Given the description of an element on the screen output the (x, y) to click on. 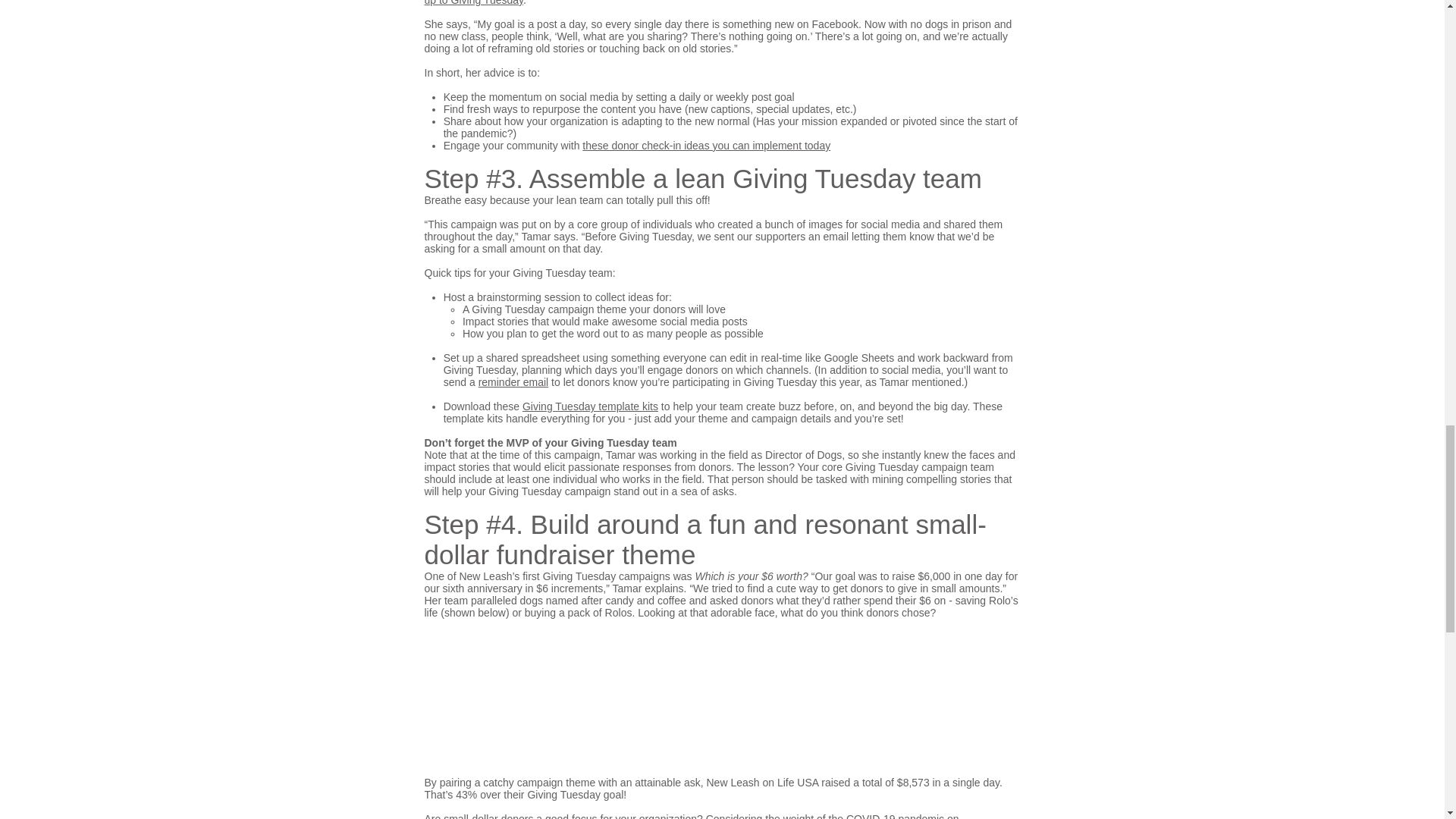
these donor check-in ideas you can implement today (705, 145)
Giving Tuesday template kits (590, 406)
reminder email (513, 381)
